Given the description of an element on the screen output the (x, y) to click on. 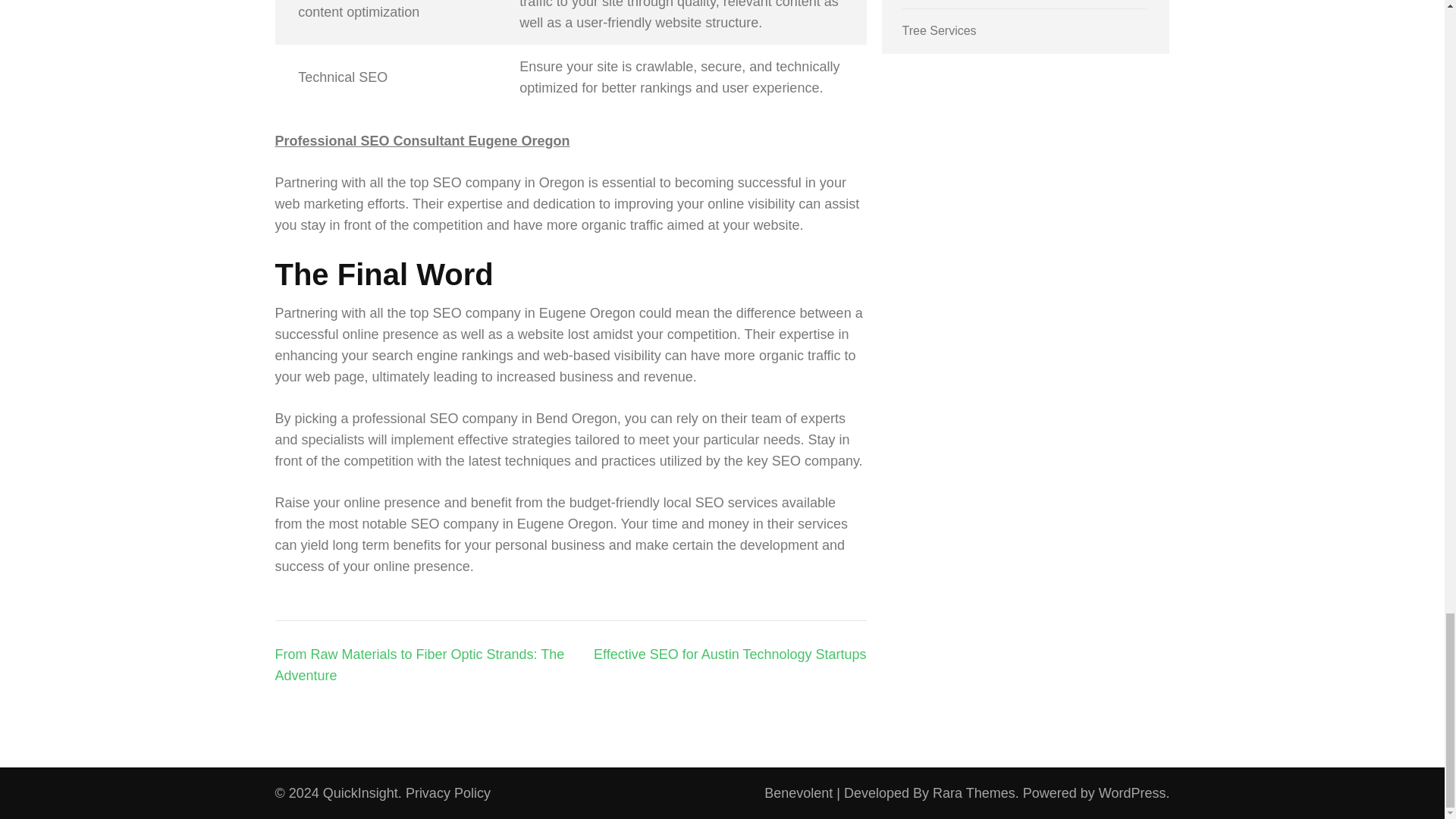
From Raw Materials to Fiber Optic Strands: The Adventure (419, 665)
Effective SEO for Austin Technology Startups (730, 654)
Professional SEO Consultant Eugene Oregon (422, 140)
